Given the description of an element on the screen output the (x, y) to click on. 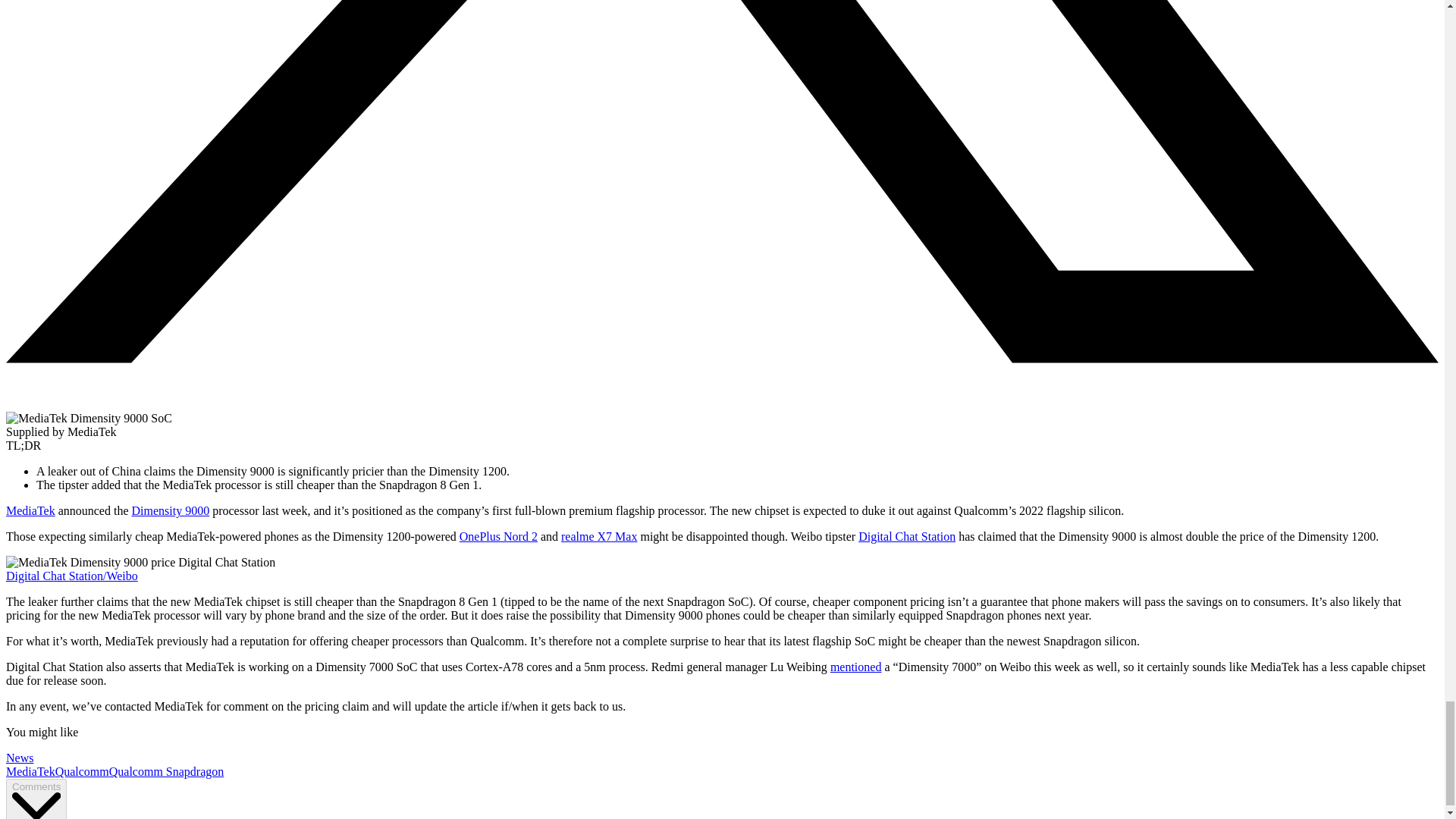
Qualcomm (82, 771)
MediaTek (30, 510)
Qualcomm Snapdragon (166, 771)
MediaTek Dimensity 9000 SoC (88, 418)
Dimensity 9000 (170, 510)
MediaTek (30, 771)
mentioned (855, 666)
MediaTek Dimensity 9000 price Digital Chat Station (140, 562)
News (19, 757)
realme X7 Max (598, 535)
OnePlus Nord 2 (498, 535)
Digital Chat Station (907, 535)
